Given the description of an element on the screen output the (x, y) to click on. 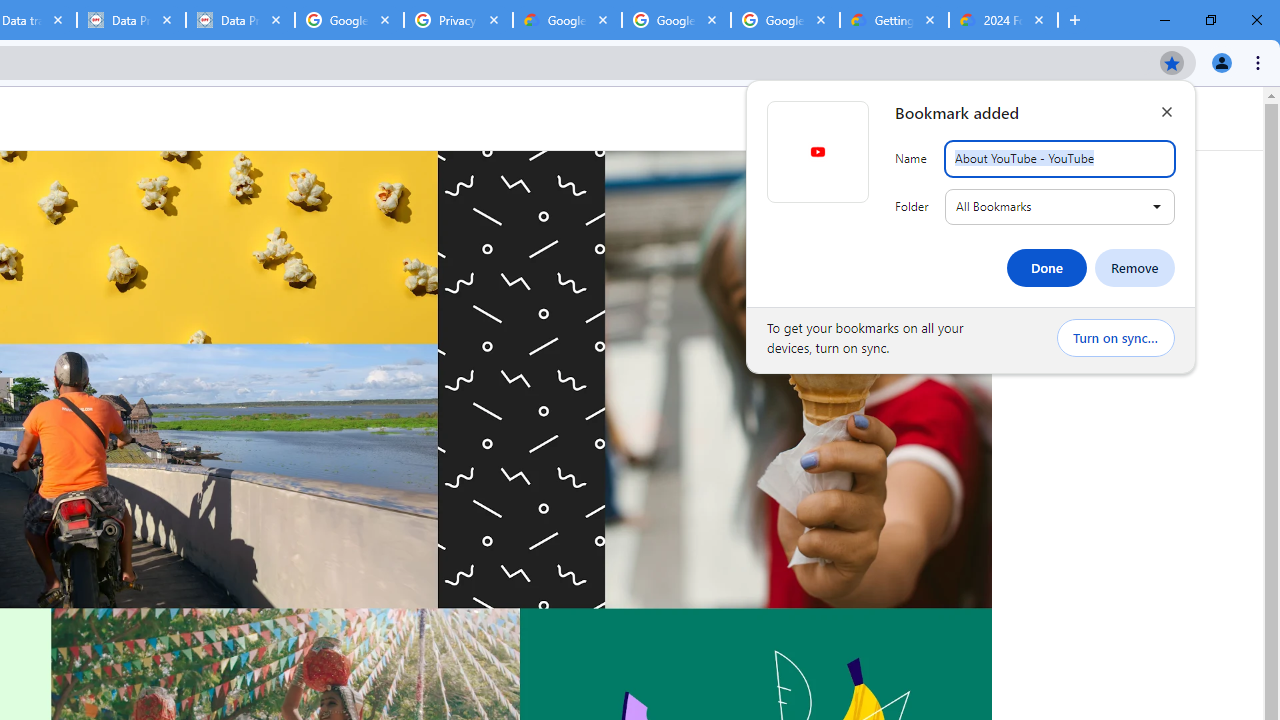
Data Privacy Framework (130, 20)
Google Cloud Terms Directory | Google Cloud (567, 20)
Data Privacy Framework (240, 20)
Remove (1134, 268)
Done (1046, 268)
Bookmark name (1059, 159)
Google Workspace - Specific Terms (676, 20)
